Given the description of an element on the screen output the (x, y) to click on. 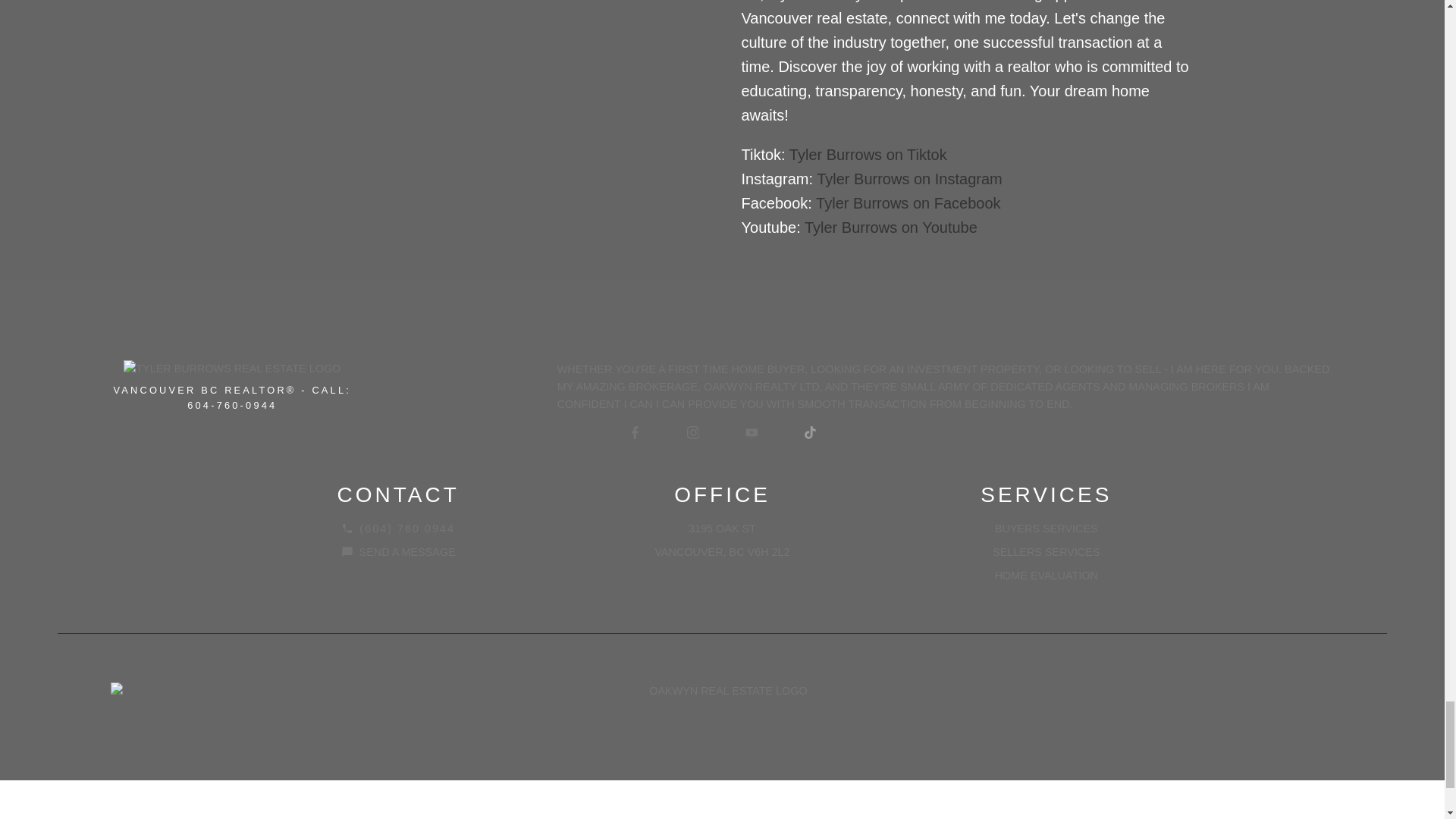
Facebook (634, 432)
instagram (692, 432)
Youtube (751, 432)
TikTok (810, 432)
